Given the description of an element on the screen output the (x, y) to click on. 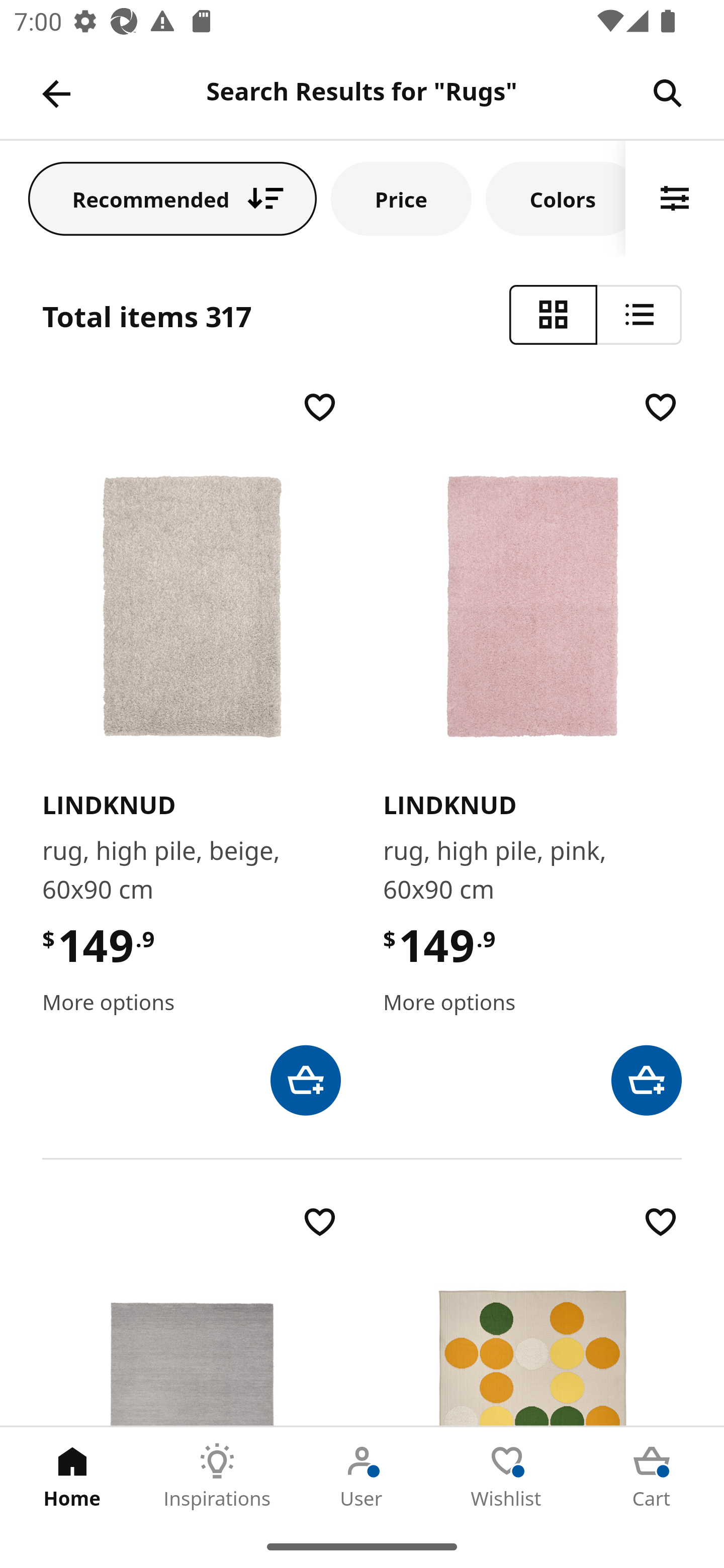
Recommended (172, 198)
Price (400, 198)
Colors (555, 198)
Home
Tab 1 of 5 (72, 1476)
Inspirations
Tab 2 of 5 (216, 1476)
User
Tab 3 of 5 (361, 1476)
Wishlist
Tab 4 of 5 (506, 1476)
Cart
Tab 5 of 5 (651, 1476)
